Given the description of an element on the screen output the (x, y) to click on. 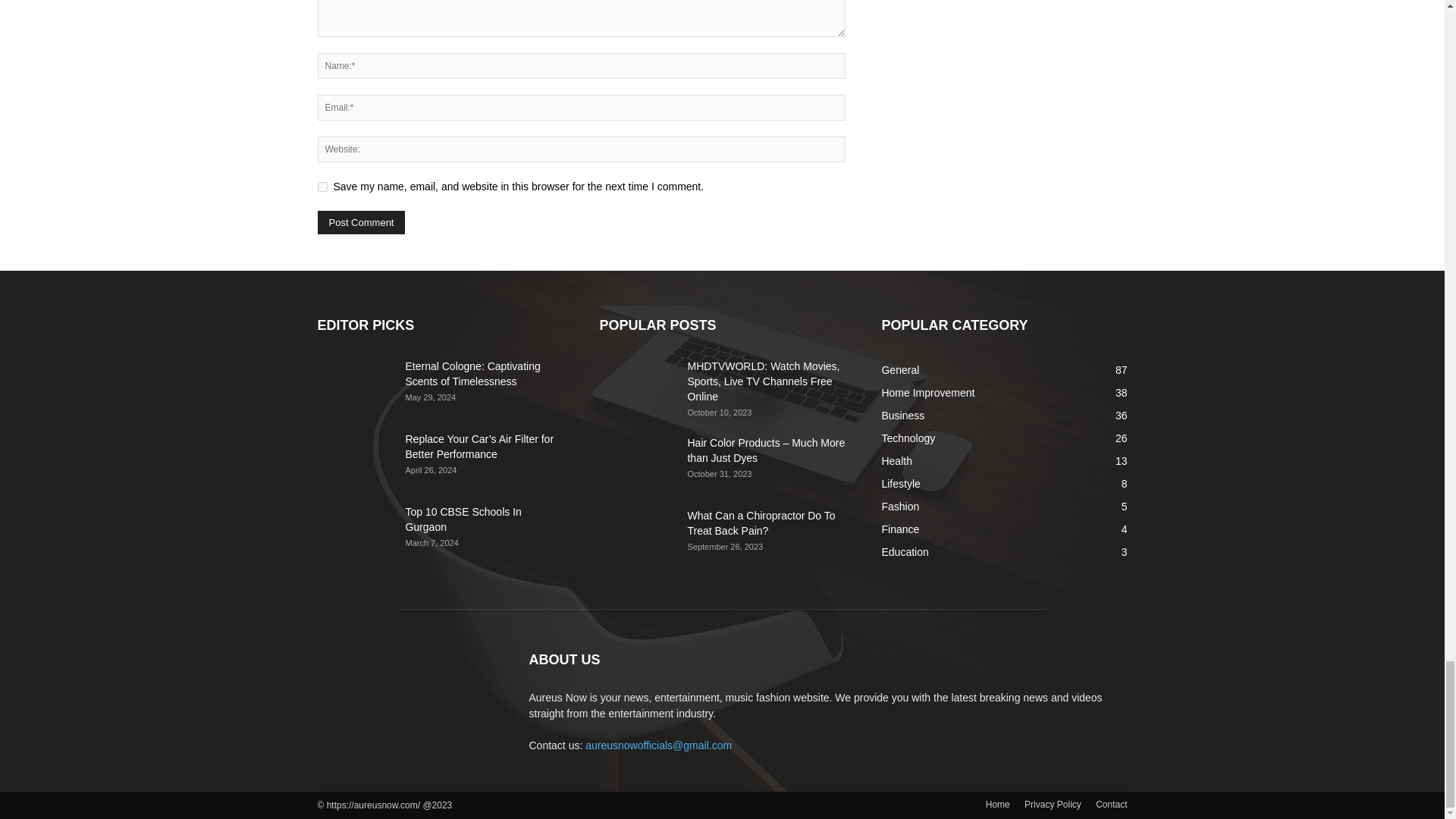
Post Comment (360, 222)
yes (321, 186)
